Given the description of an element on the screen output the (x, y) to click on. 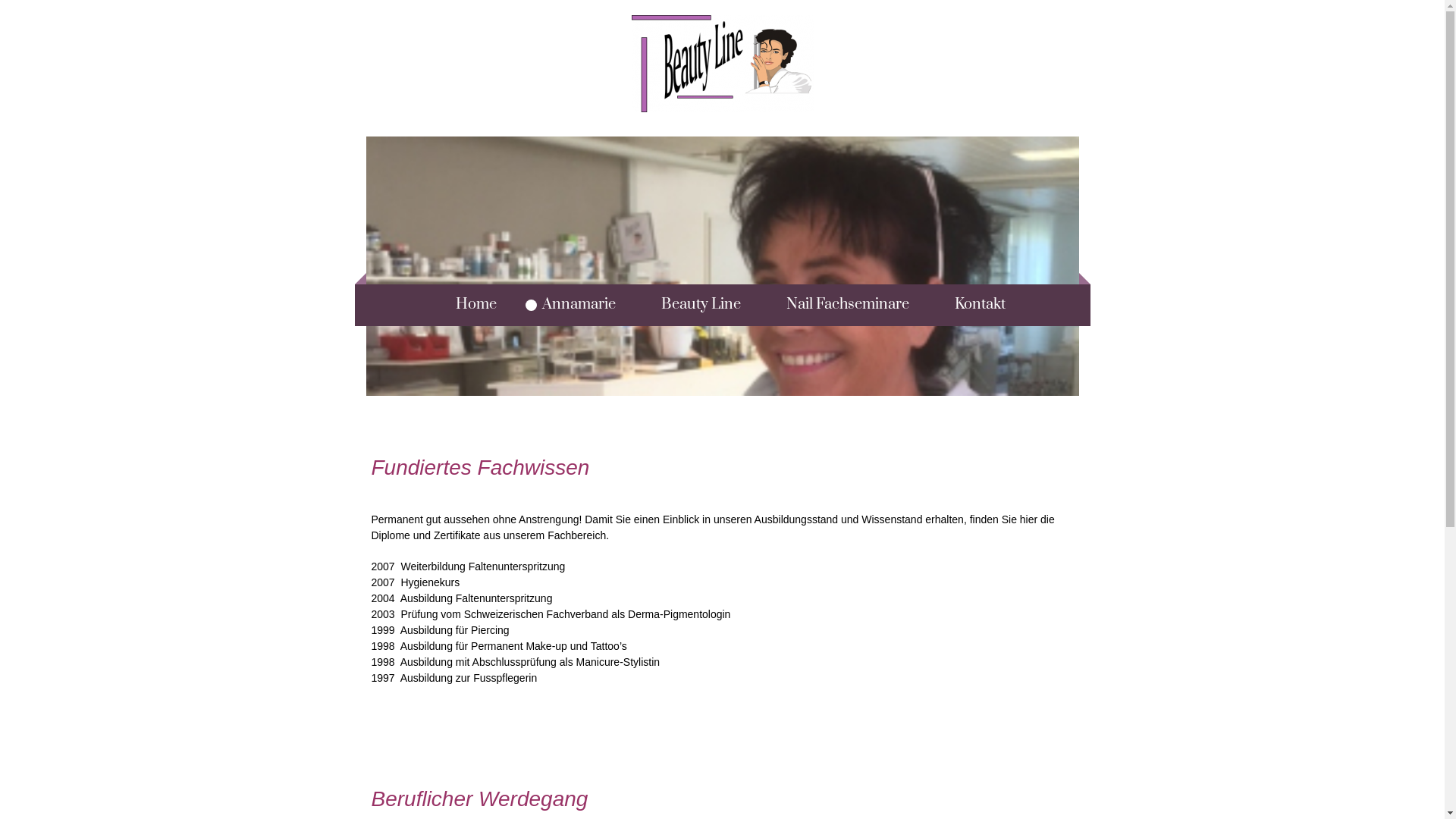
Nail Fachseminare Element type: text (839, 304)
Annamarie Element type: text (570, 304)
Beauty Line Element type: text (692, 304)
Kontakt Element type: text (971, 304)
Home Element type: text (467, 304)
